Given the description of an element on the screen output the (x, y) to click on. 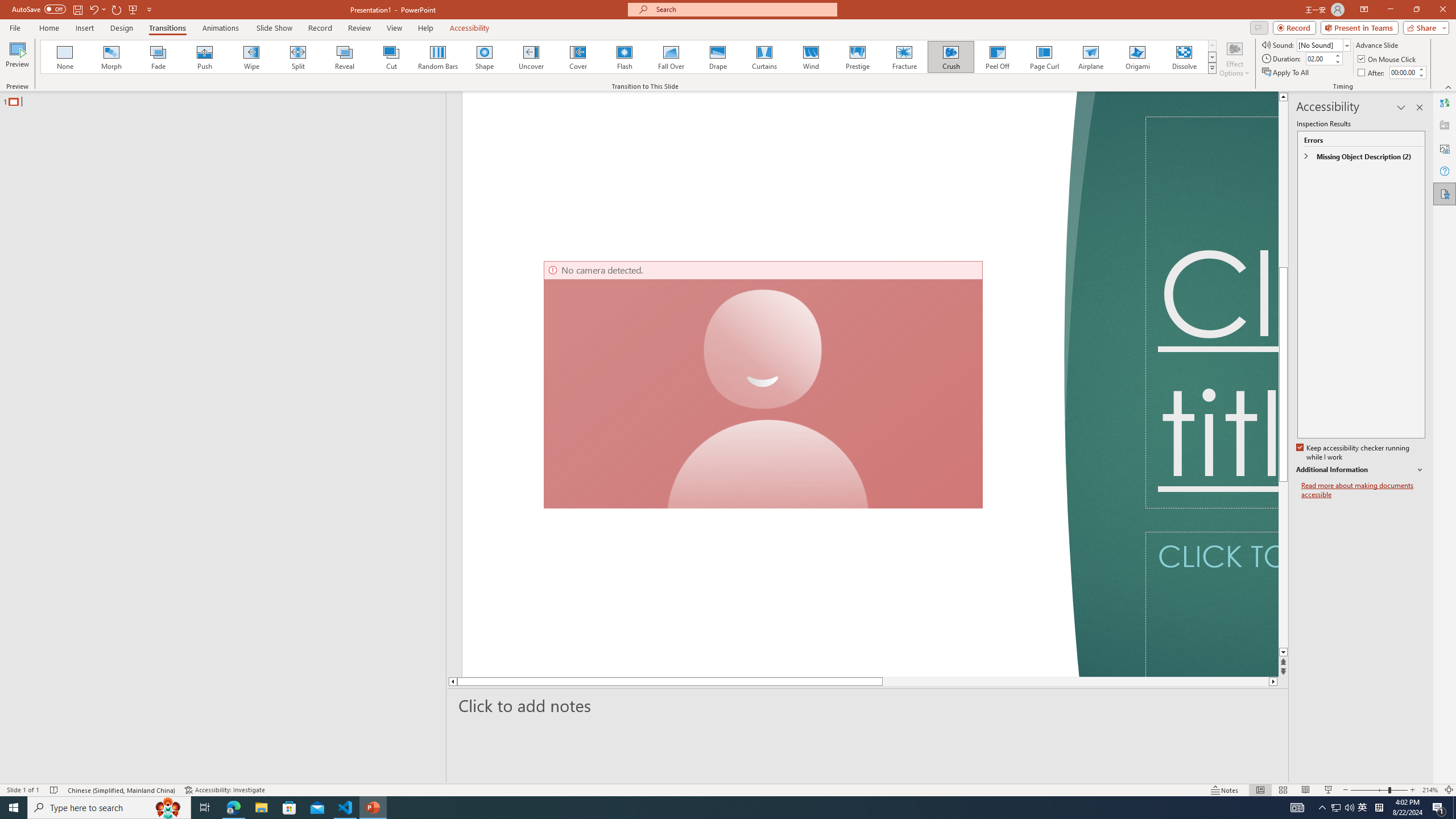
Crush (950, 56)
Sound (1324, 44)
On Mouse Click (1387, 58)
